Given the description of an element on the screen output the (x, y) to click on. 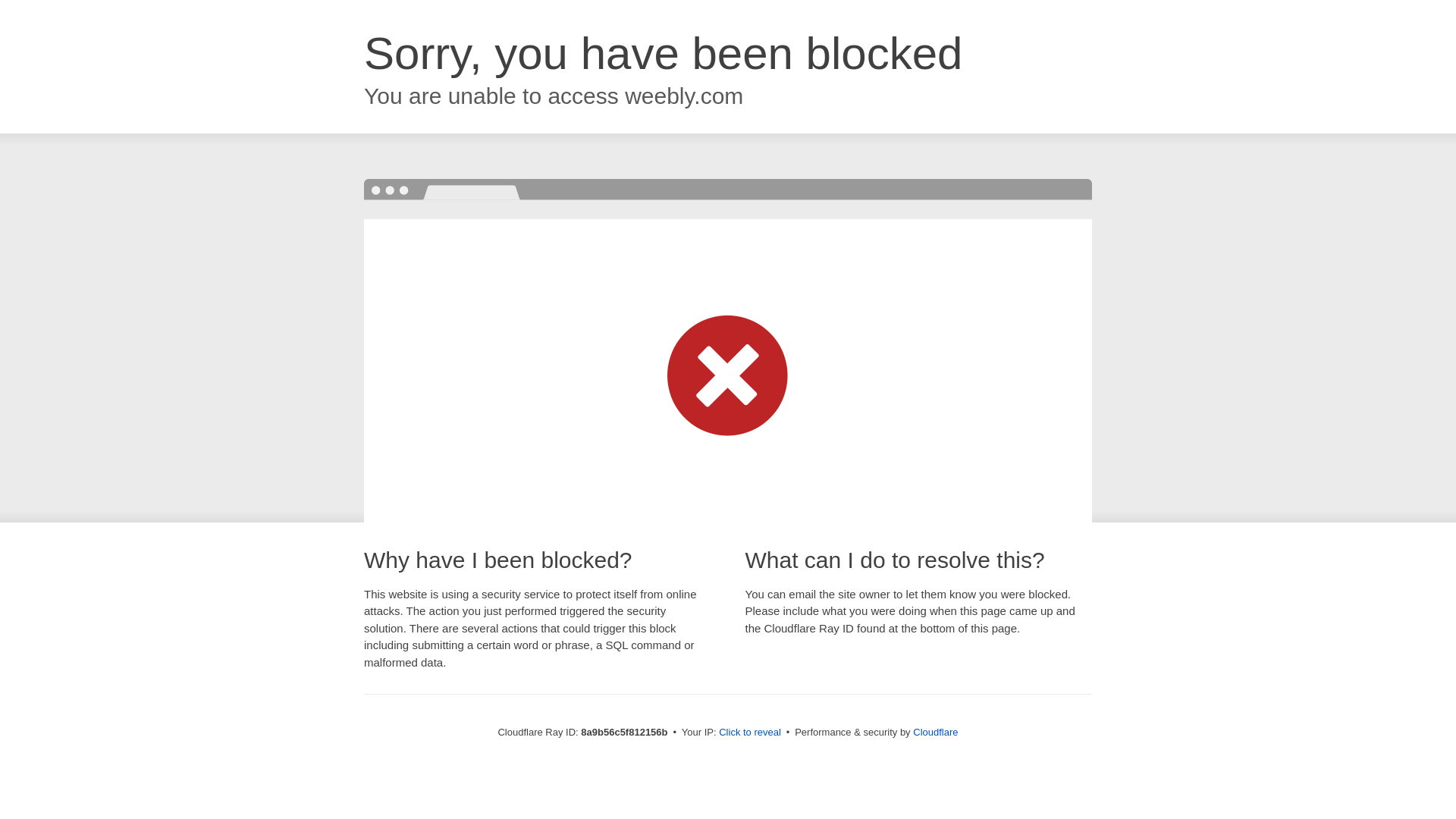
Click to reveal (749, 732)
Cloudflare (935, 731)
